Given the description of an element on the screen output the (x, y) to click on. 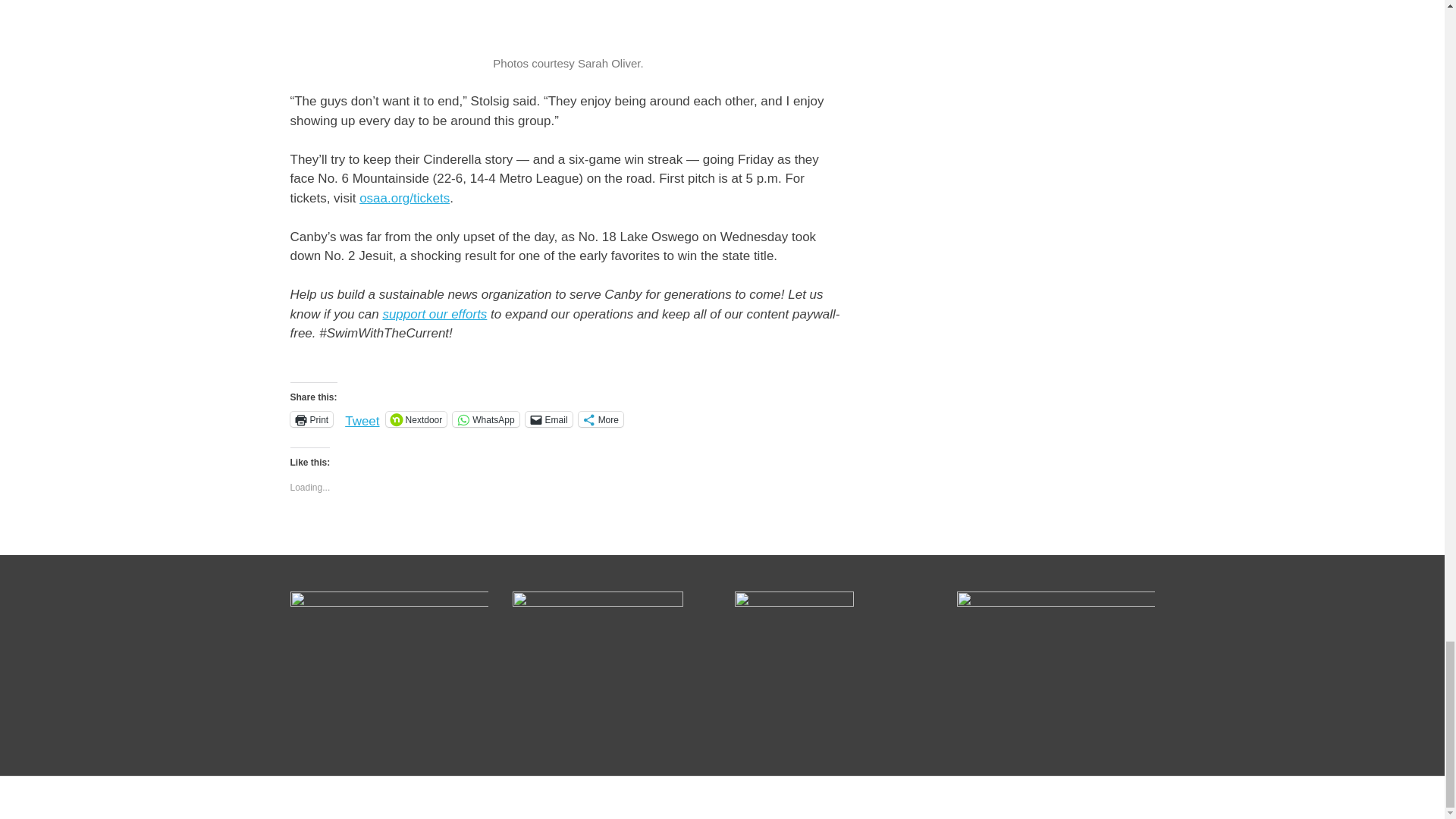
Click to share on Nextdoor (415, 418)
Click to share on WhatsApp (485, 418)
Click to print (311, 418)
Click to email a link to a friend (548, 418)
